Given the description of an element on the screen output the (x, y) to click on. 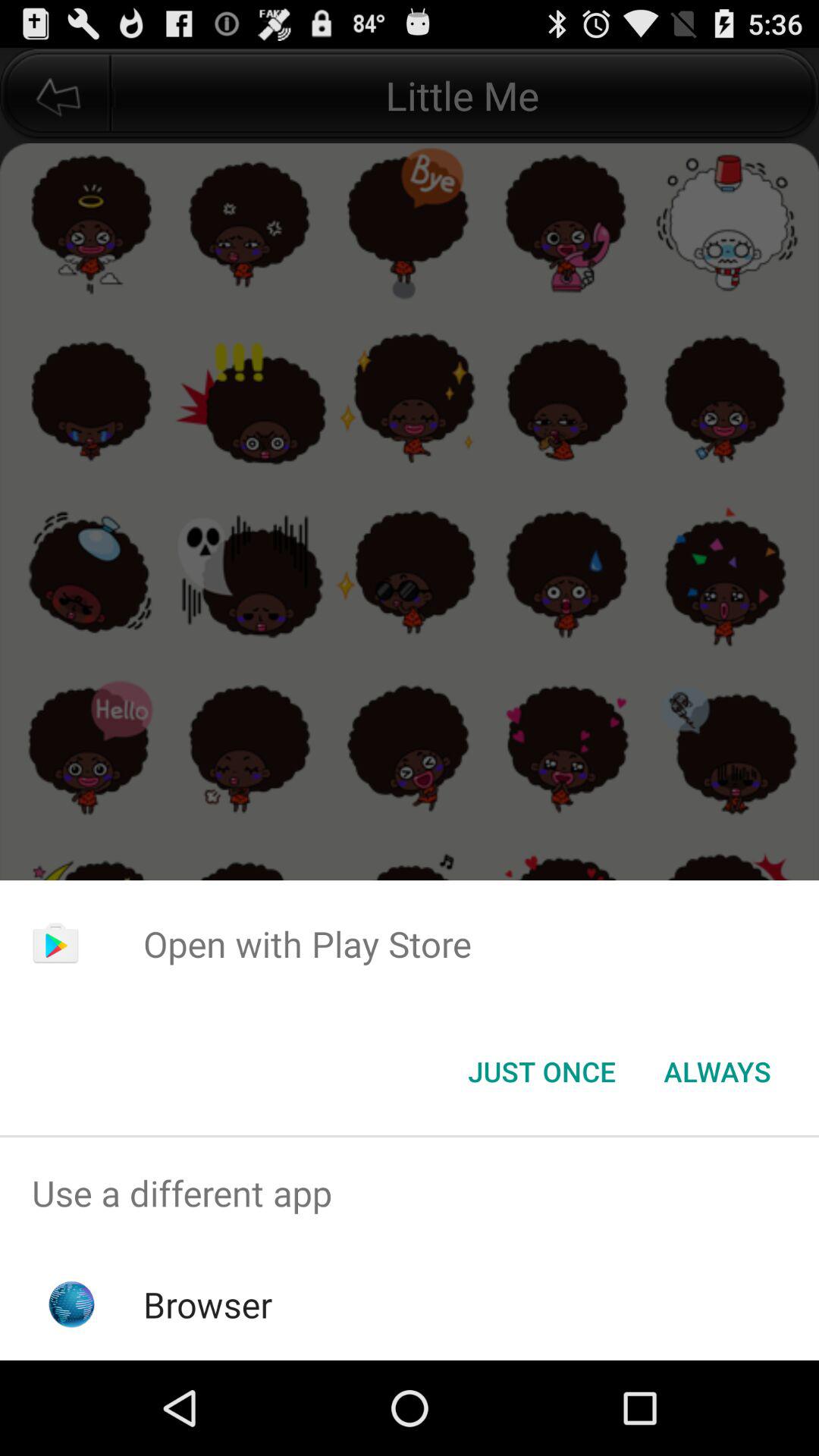
scroll until browser item (207, 1304)
